Given the description of an element on the screen output the (x, y) to click on. 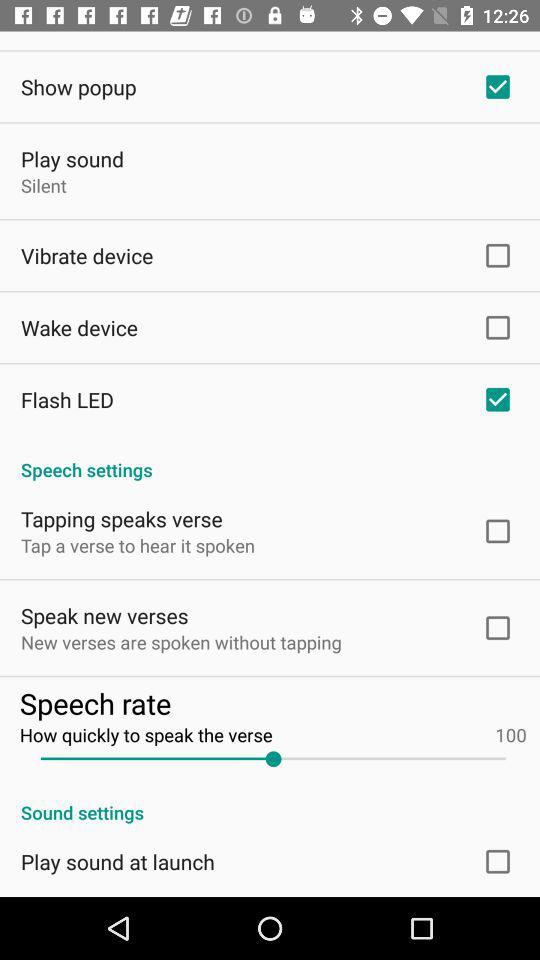
choose icon below the silent app (87, 255)
